Given the description of an element on the screen output the (x, y) to click on. 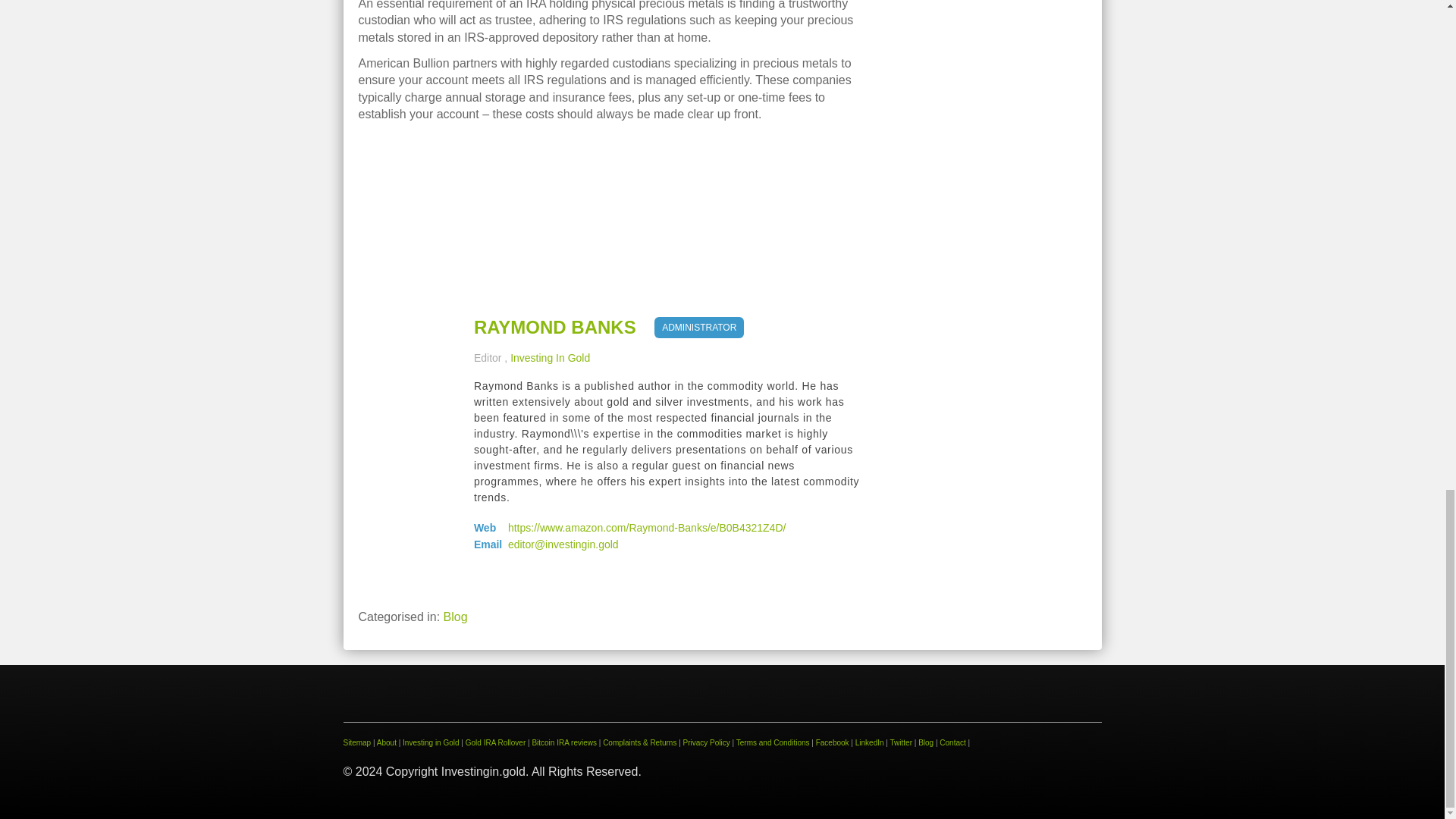
Facebook (831, 742)
Gold IRA Rollover (495, 742)
RAYMOND BANKS (555, 327)
Blog (925, 742)
Contact (952, 742)
LinkedIn (869, 742)
Bitcoin IRA reviews (563, 742)
Terms and Conditions (772, 742)
Twitter (900, 742)
Blog (455, 616)
